Given the description of an element on the screen output the (x, y) to click on. 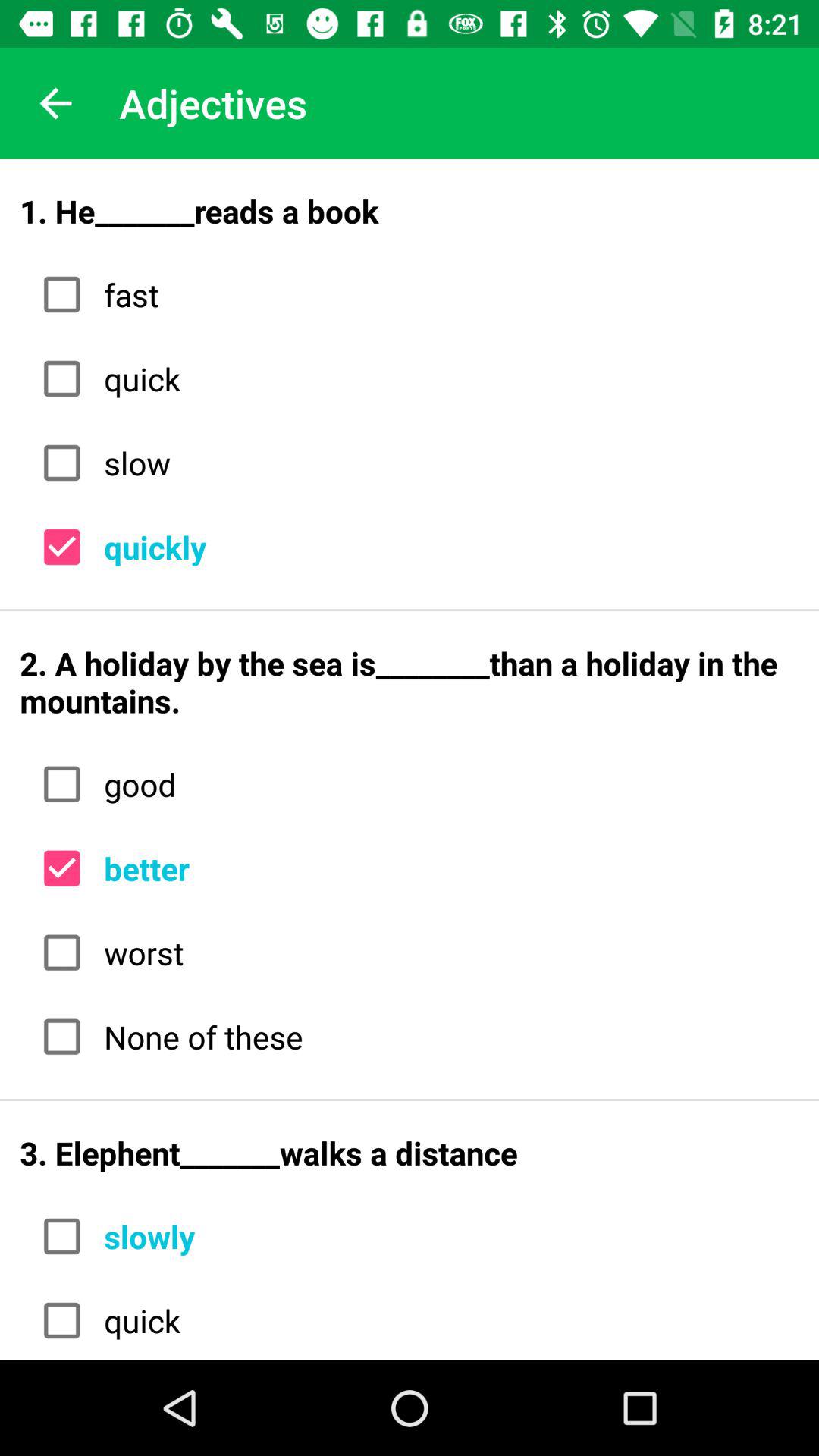
swipe until the better icon (446, 868)
